Given the description of an element on the screen output the (x, y) to click on. 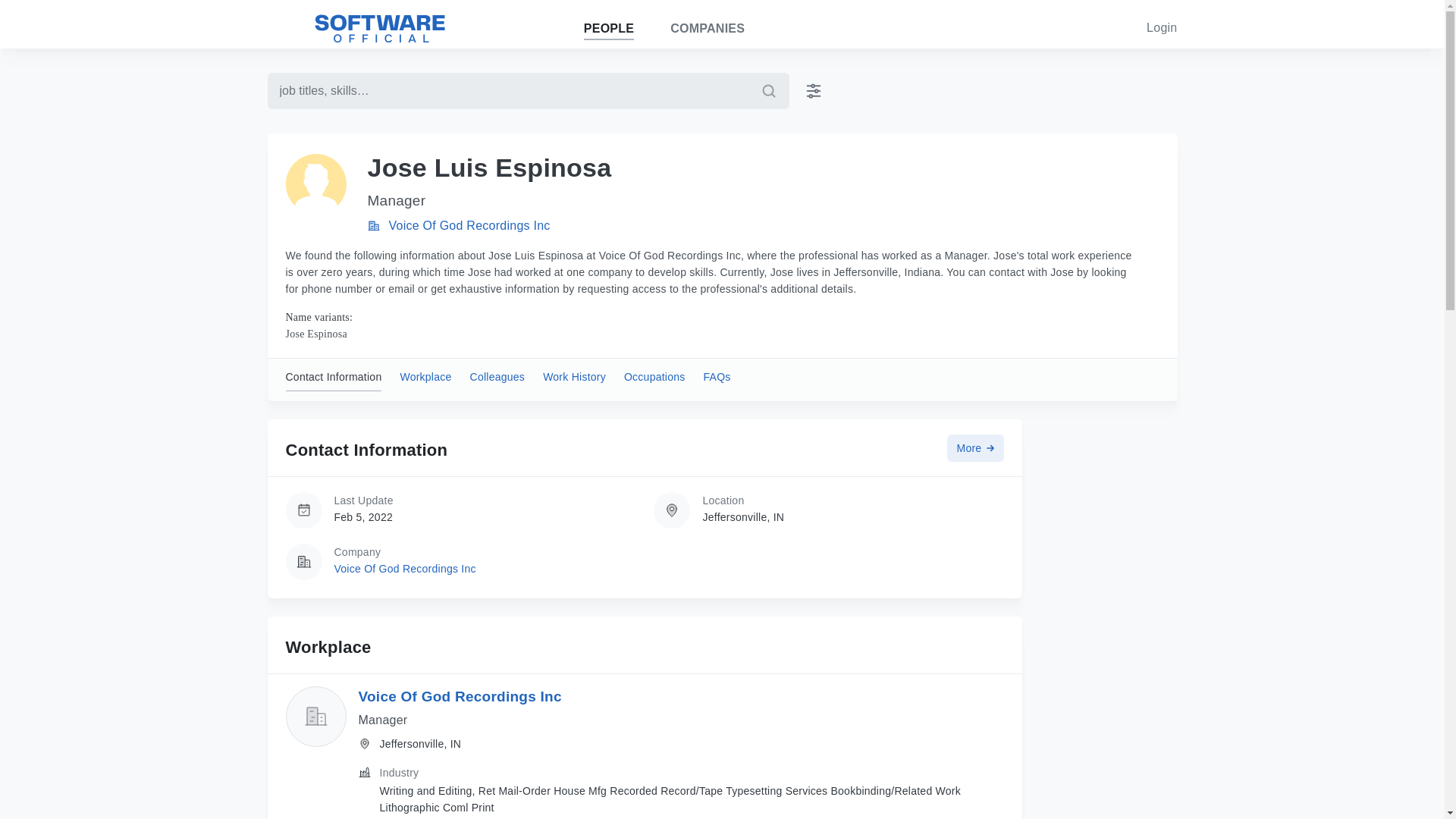
Occupations (654, 379)
COMPANIES (706, 28)
Workplace (424, 379)
Voice Of God Recordings Inc (404, 568)
Colleagues (497, 379)
More (975, 447)
Voice Of God Recordings Inc (459, 696)
Login (1161, 27)
Contact Information (333, 379)
FAQs (716, 379)
Voice Of God Recordings Inc (469, 225)
Work History (574, 379)
